Given the description of an element on the screen output the (x, y) to click on. 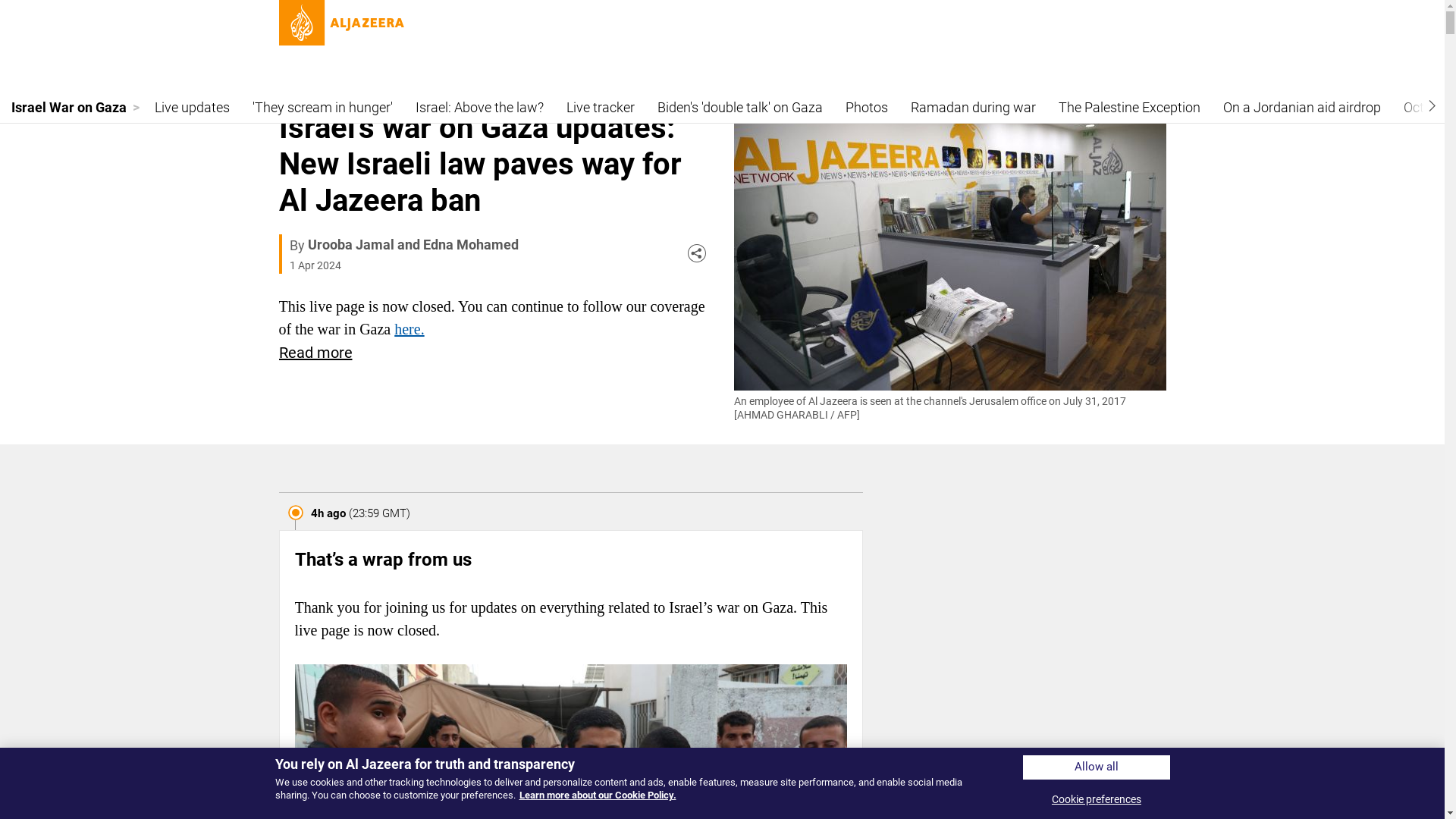
Edna Mohamed (470, 244)
here. (408, 329)
'They scream in hunger' (322, 106)
Israel War on Gaza (75, 106)
Photos (866, 106)
Click here to share on social media (695, 253)
Live tracker (600, 106)
Read more (315, 352)
The Palestine Exception (1128, 106)
Ramadan during war (973, 106)
